Given the description of an element on the screen output the (x, y) to click on. 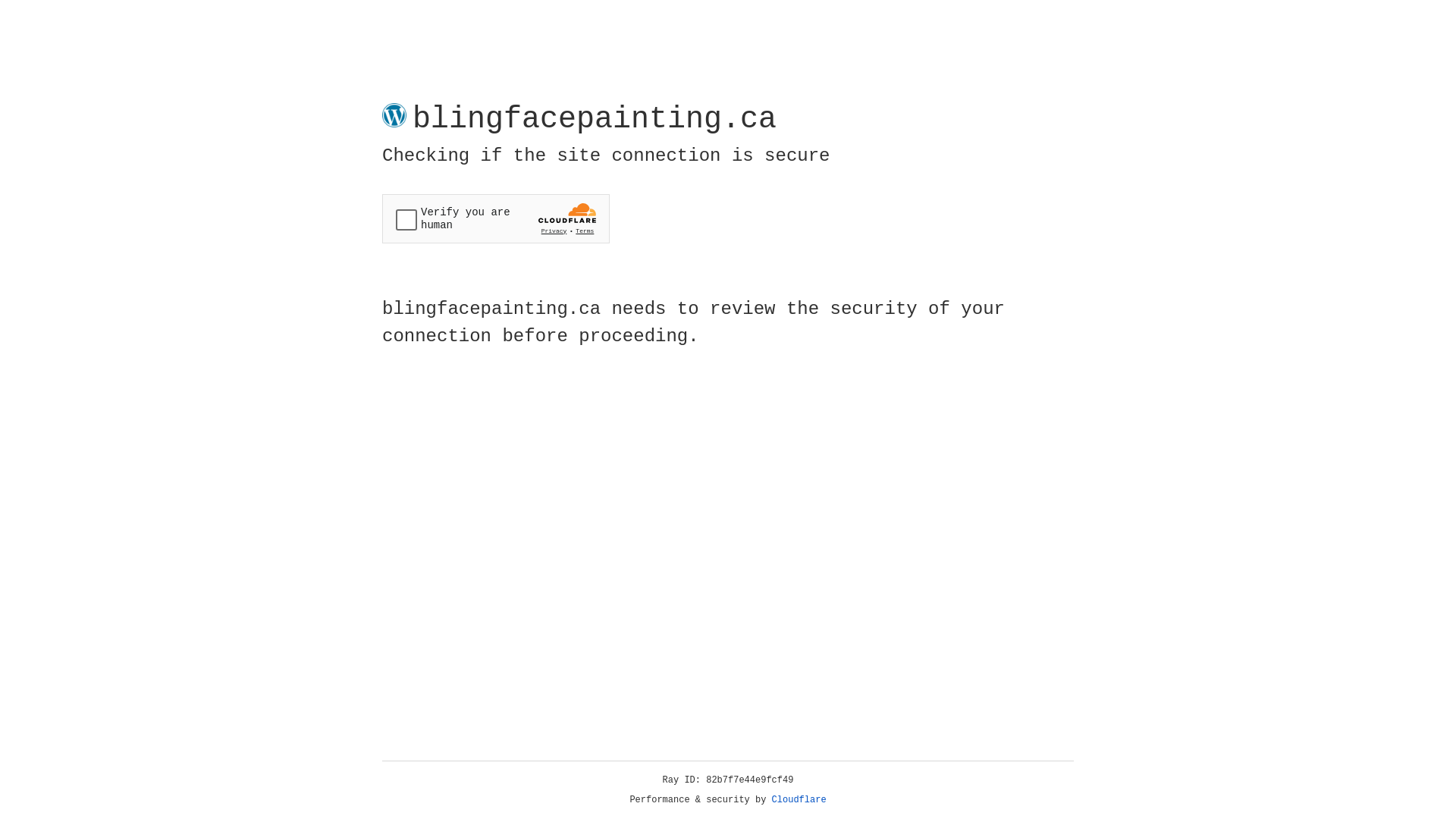
Cloudflare Element type: text (798, 799)
Widget containing a Cloudflare security challenge Element type: hover (495, 218)
